Given the description of an element on the screen output the (x, y) to click on. 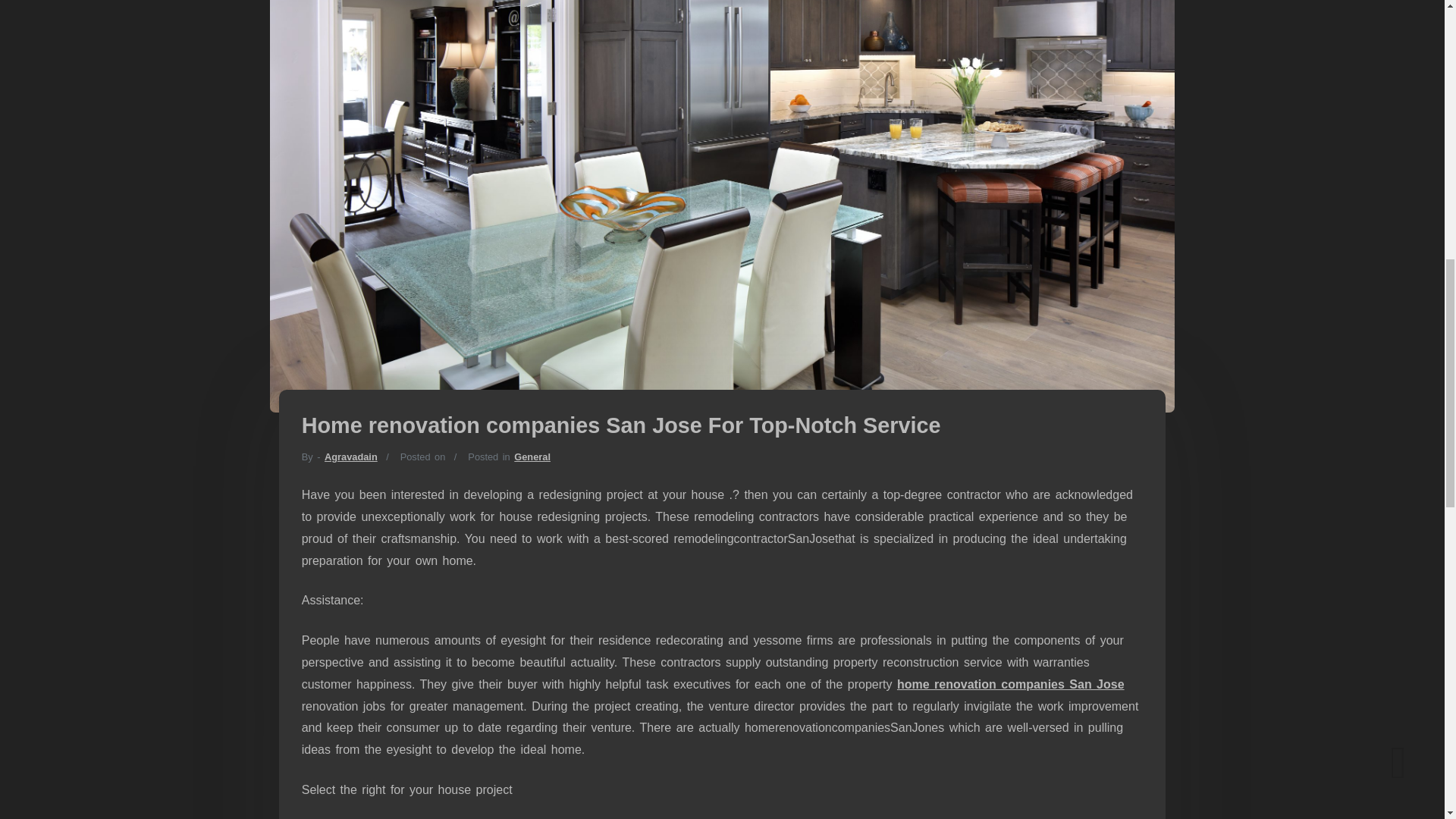
General (531, 456)
home renovation companies San Jose (1010, 684)
Agravadain (350, 456)
